Given the description of an element on the screen output the (x, y) to click on. 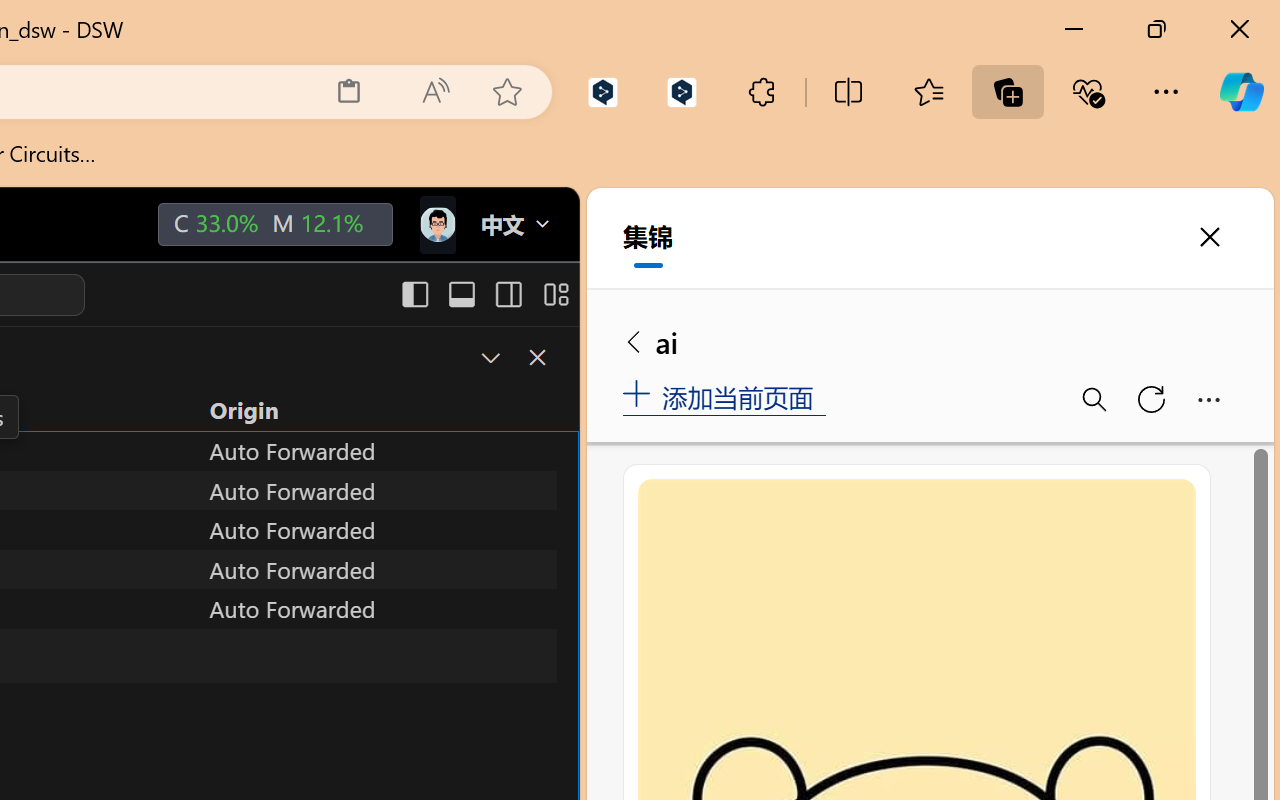
Customize Layout... (553, 294)
Toggle Primary Side Bar (Ctrl+B) (413, 294)
Class: actions-container (516, 358)
icon (436, 220)
icon (436, 224)
Class: next-menu next-hoz widgets--iconMenu--BFkiHRM (436, 225)
